Given the description of an element on the screen output the (x, y) to click on. 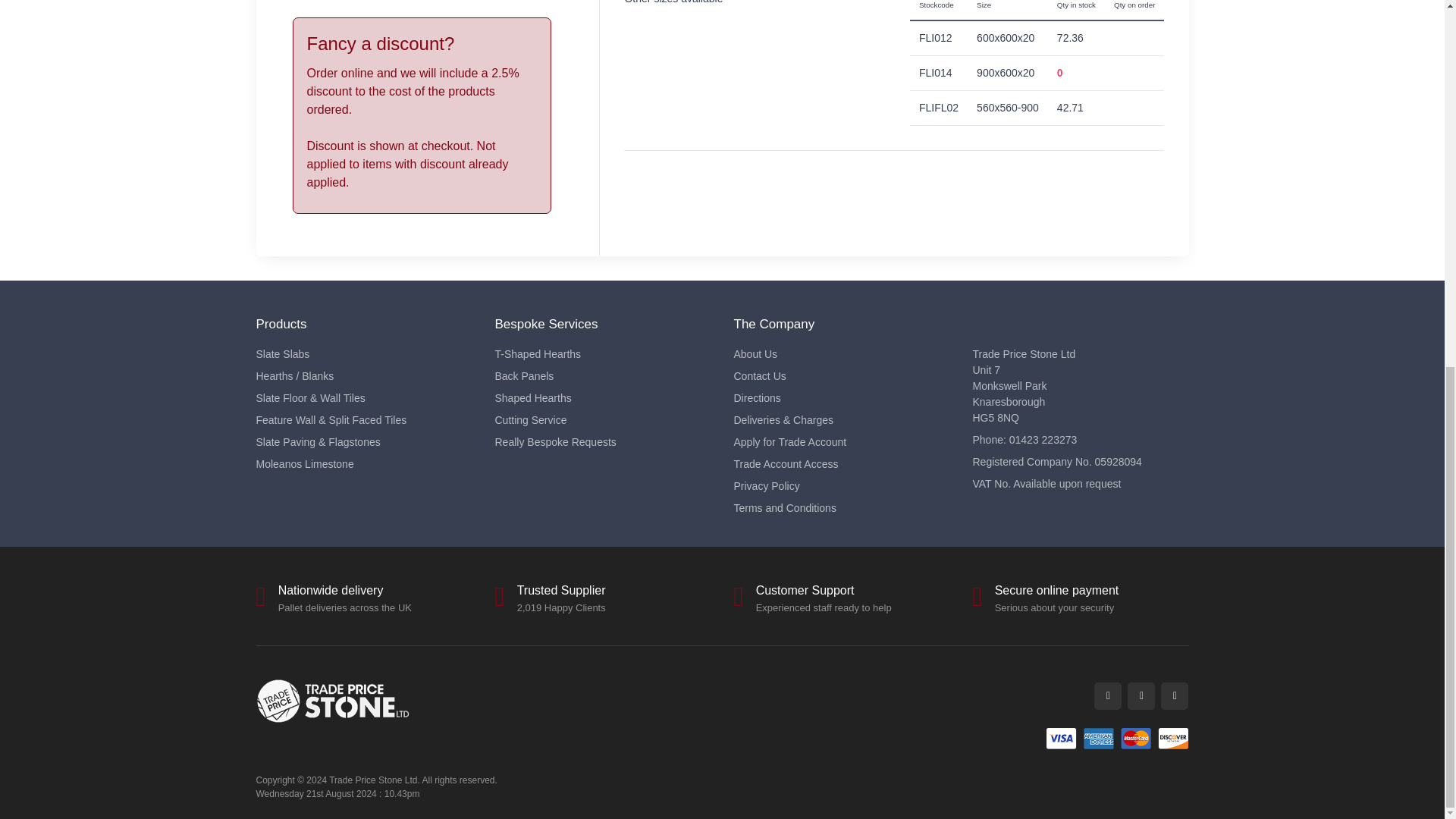
Follow us on Twitter (1107, 696)
Follow us on Instagram (1174, 696)
Slate Slabs (363, 354)
Follow us on Facebook (1140, 696)
